Given the description of an element on the screen output the (x, y) to click on. 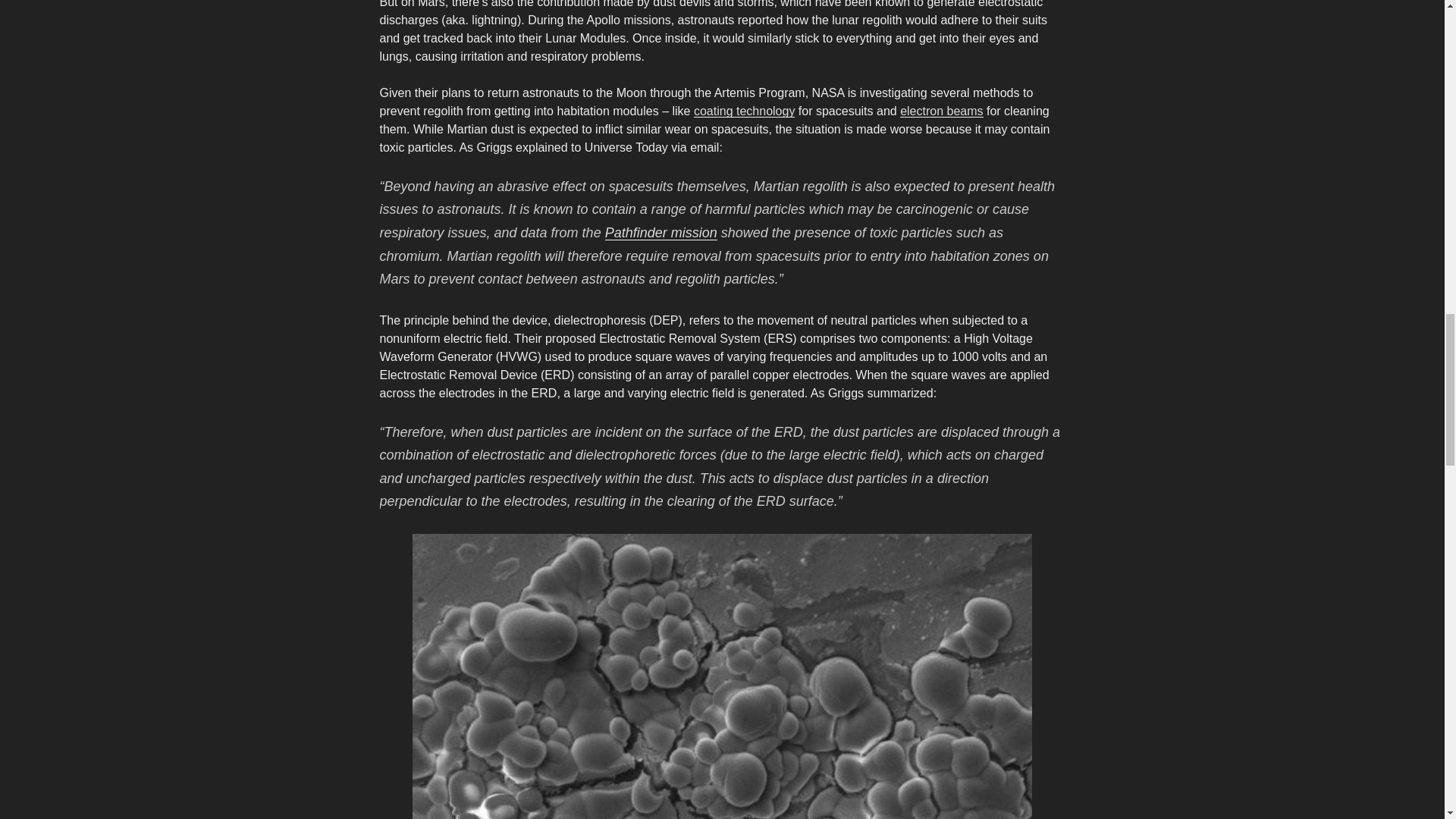
electron beams (940, 110)
Pathfinder mission (661, 232)
coating technology (744, 110)
